Given the description of an element on the screen output the (x, y) to click on. 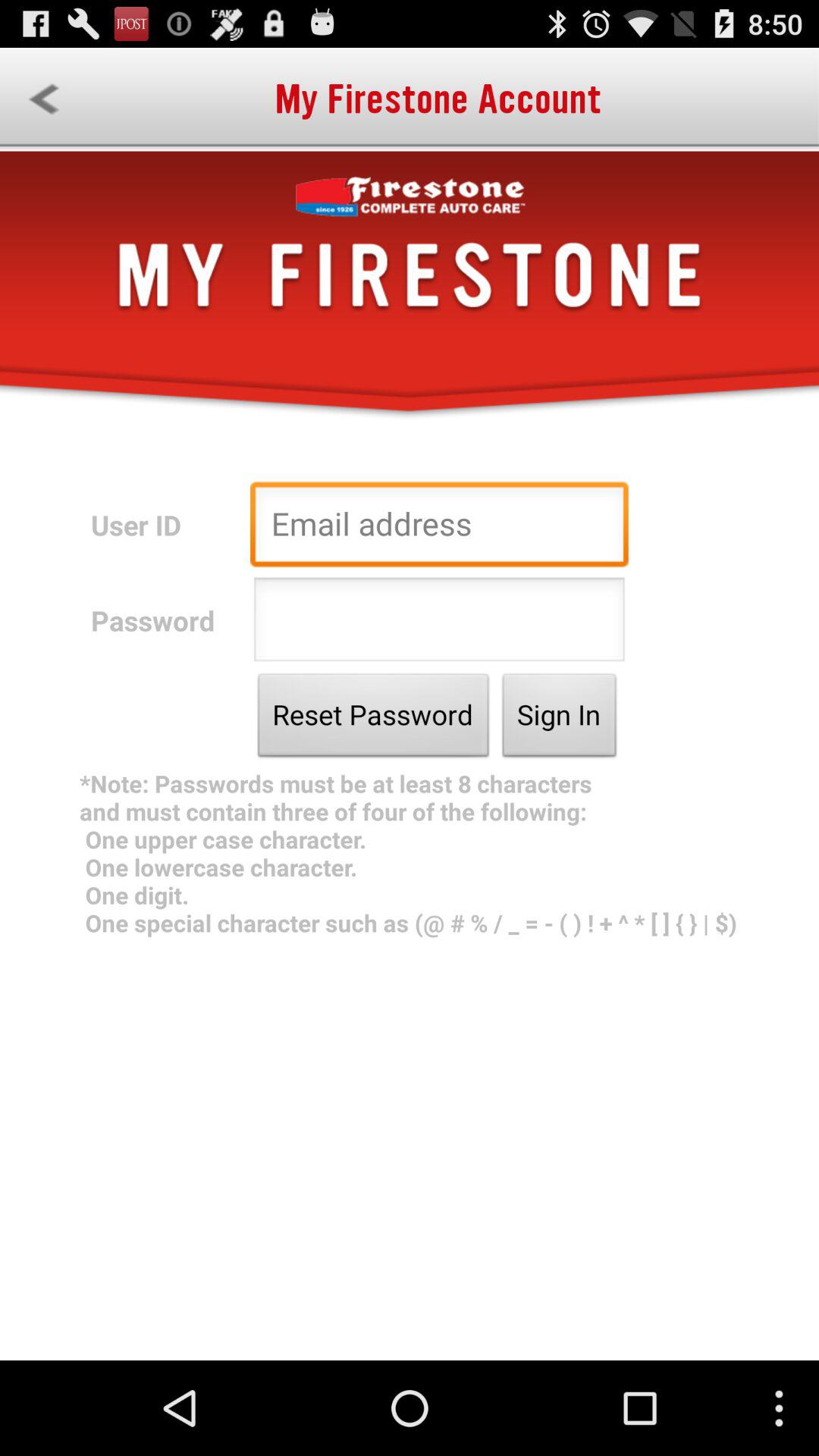
turn on the button next to the reset password icon (559, 719)
